Given the description of an element on the screen output the (x, y) to click on. 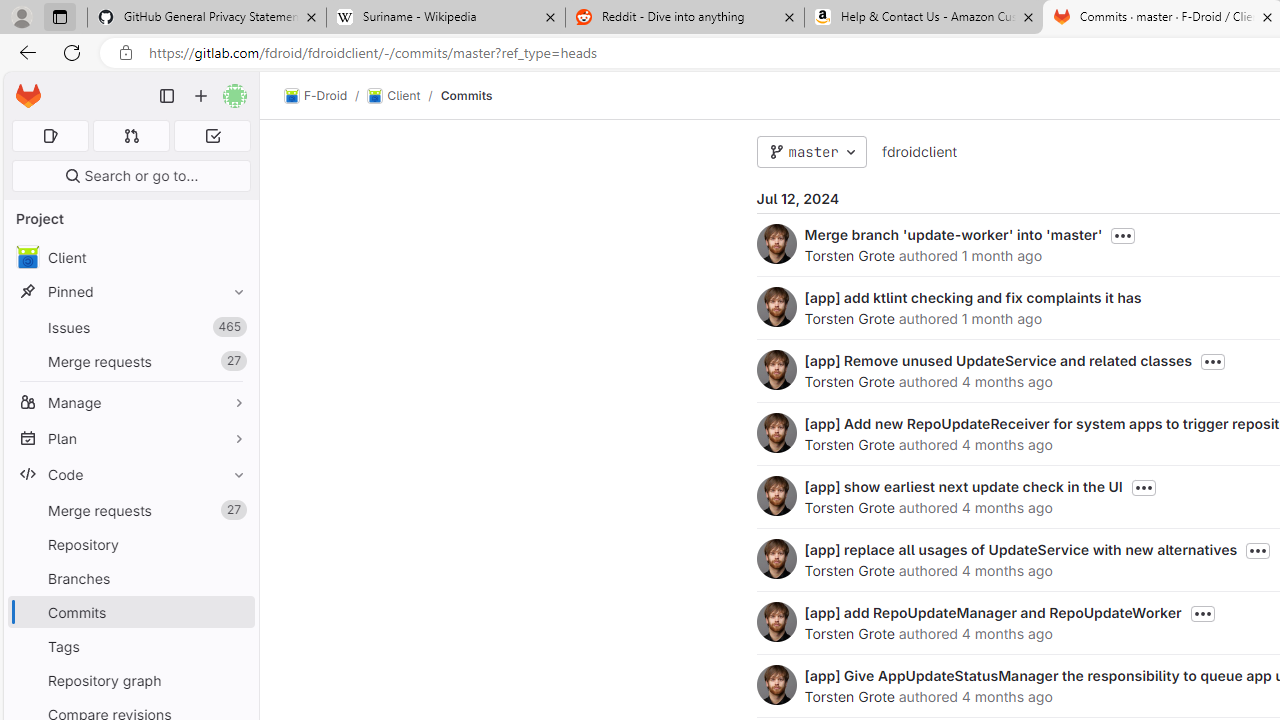
Repository (130, 543)
Help & Contact Us - Amazon Customer Service (924, 17)
Unpin Merge requests (234, 510)
Merge requests 0 (131, 136)
Plan (130, 438)
[app] add RepoUpdateManager and RepoUpdateWorker (992, 612)
Primary navigation sidebar (167, 96)
Assigned issues 0 (50, 136)
Client (394, 96)
Pin Repository graph (234, 680)
F-Droid (316, 96)
Toggle commit description (1202, 614)
